Given the description of an element on the screen output the (x, y) to click on. 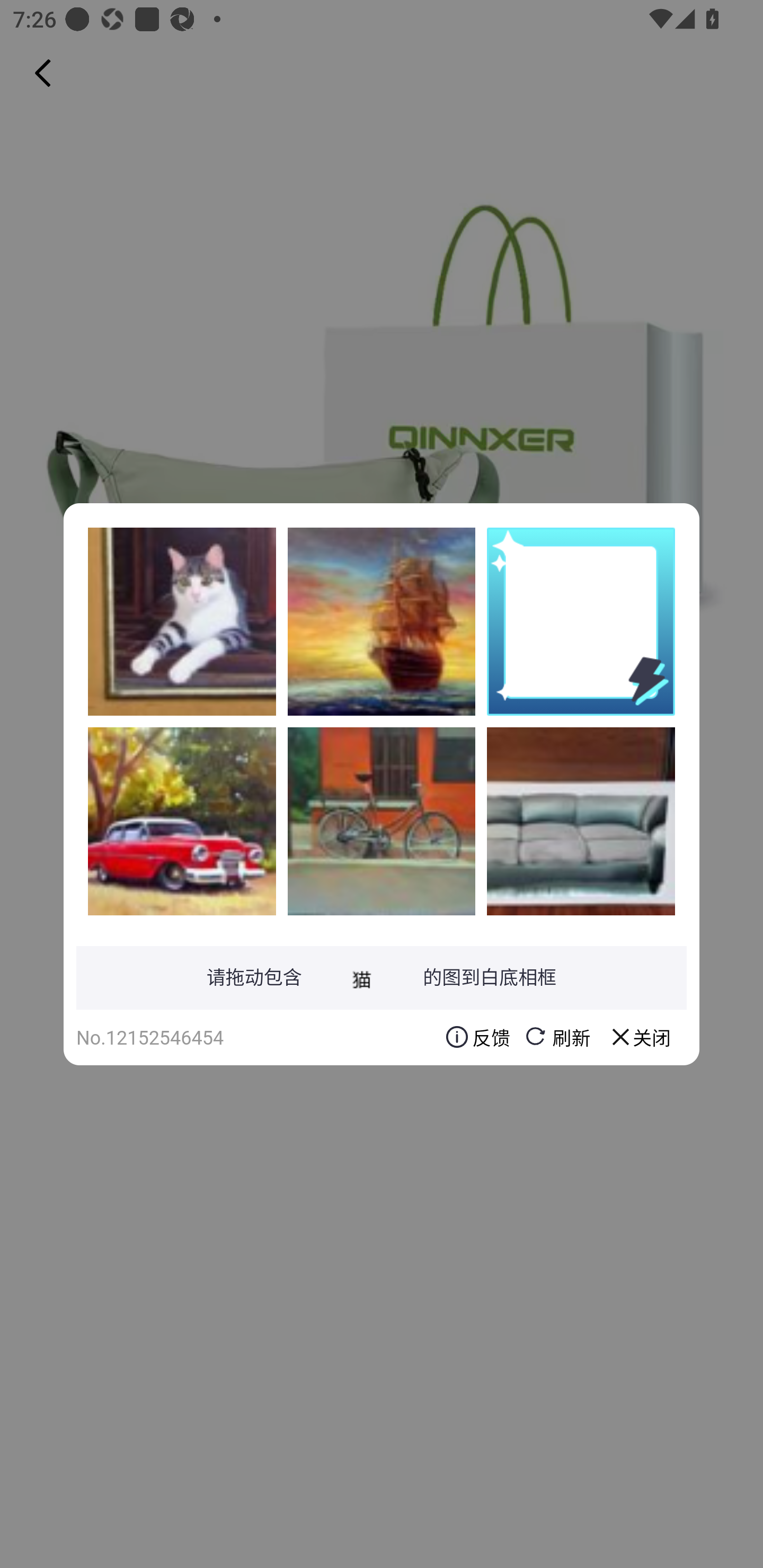
7YdOH (181, 621)
lk74ZOejW (580, 820)
